Given the description of an element on the screen output the (x, y) to click on. 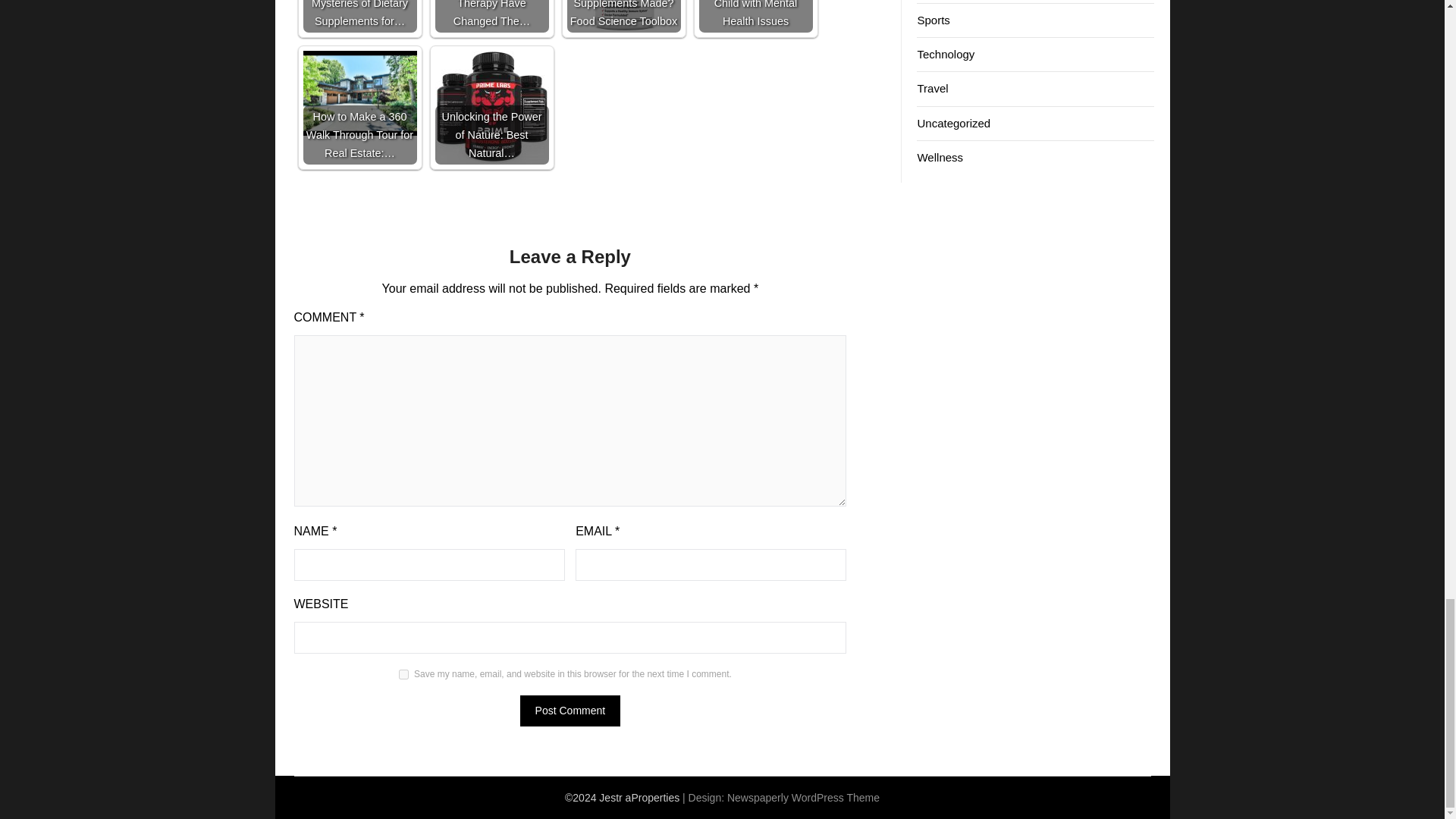
Post Comment (570, 710)
How to Support a Child with Mental Health Issues (755, 16)
yes (403, 674)
How Are Vitamin Supplements Made? Food Science Toolbox (623, 16)
Post Comment (570, 710)
How Are Vitamin Supplements Made? Food Science Toolbox (624, 16)
